Given the description of an element on the screen output the (x, y) to click on. 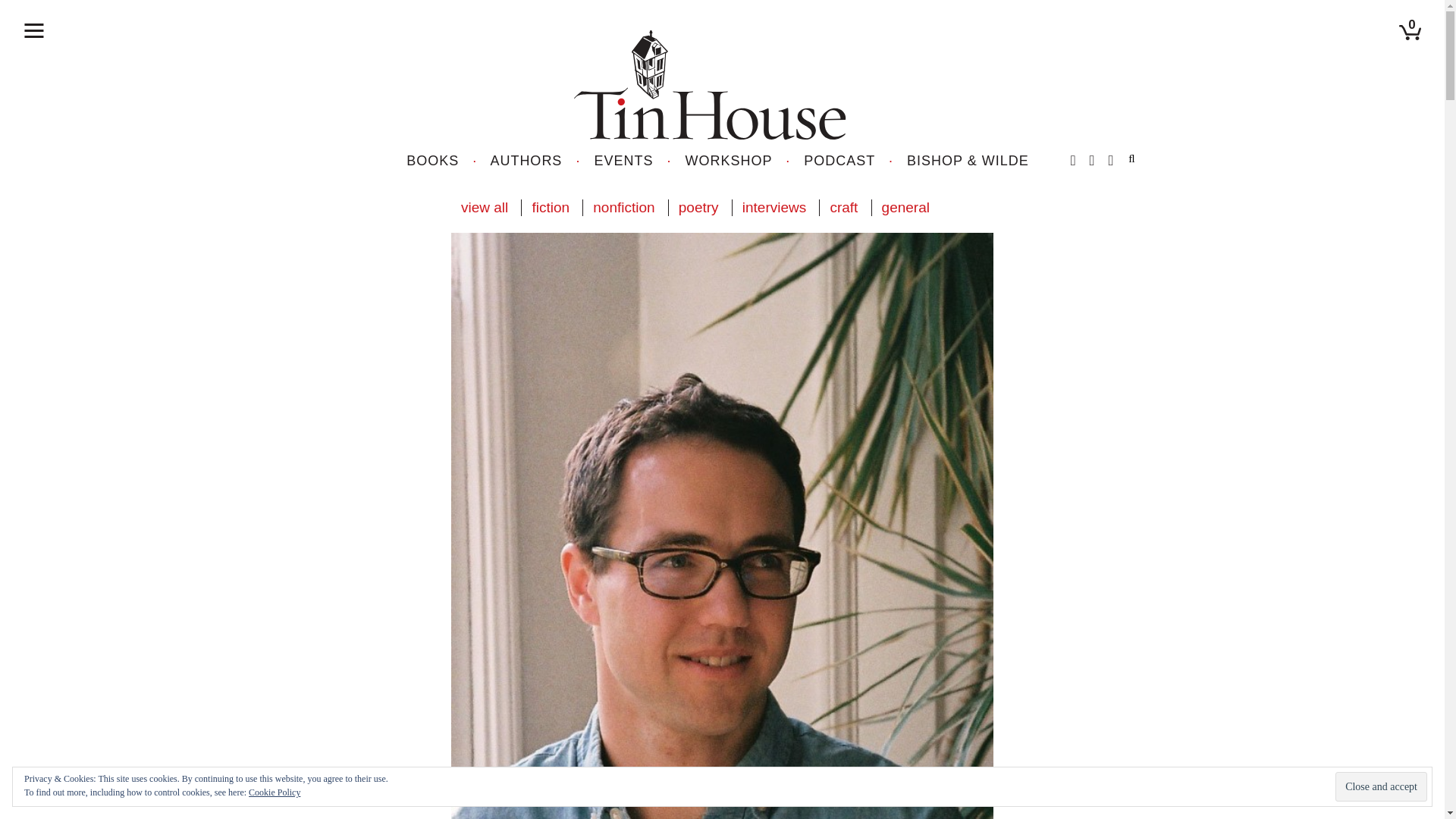
Created with Sketch. (1410, 32)
general (905, 207)
craft (843, 207)
interviews (773, 207)
fiction (550, 207)
BOOKS (432, 160)
created with sketch. (34, 30)
created with sketch. (33, 30)
Created with Sketch. (716, 83)
WORKSHOP (729, 160)
